Given the description of an element on the screen output the (x, y) to click on. 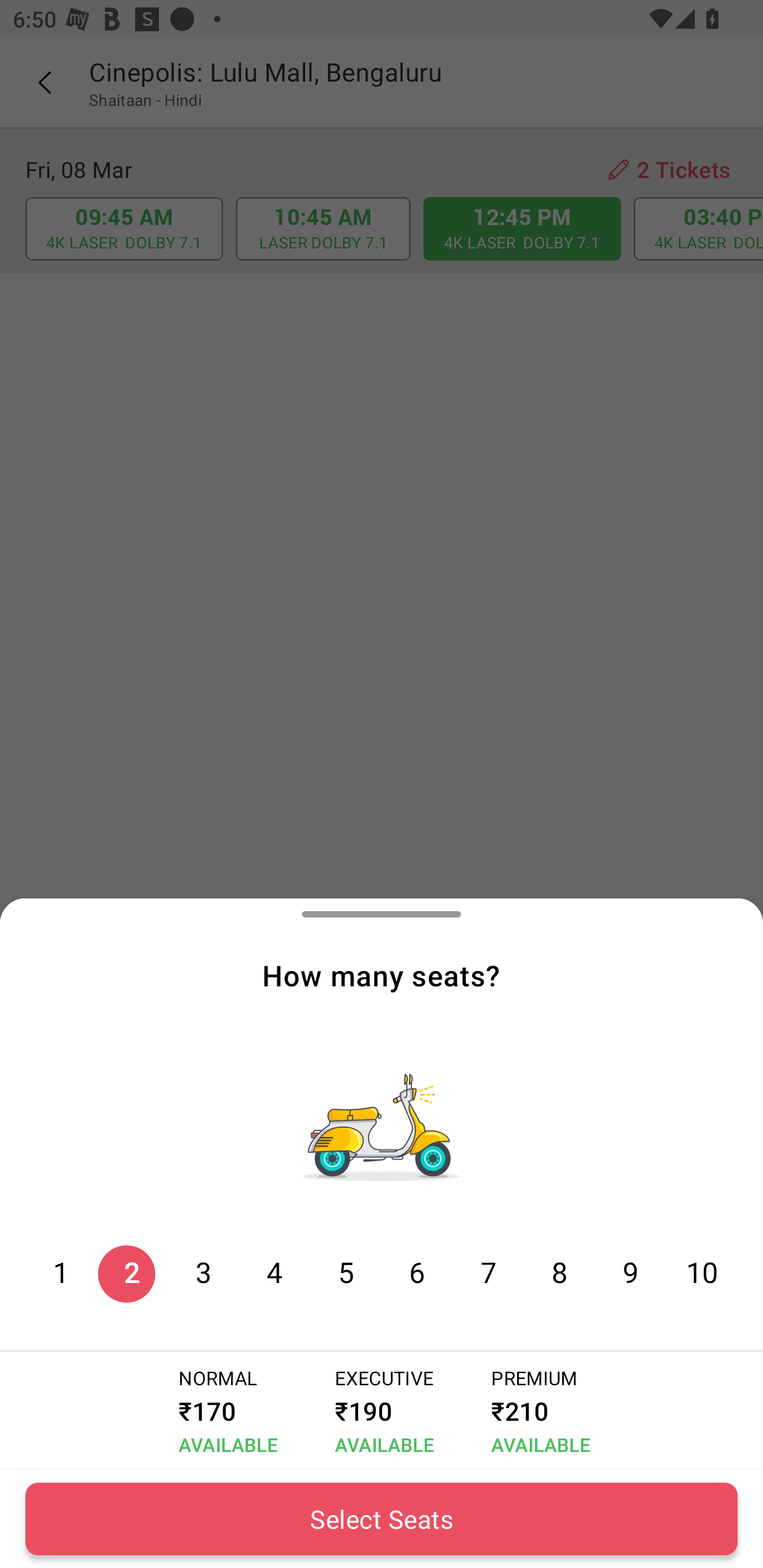
NORMAL ₹170 AVAILABLE (224, 1410)
EXECUTIVE ₹190 AVAILABLE (380, 1410)
PREMIUM ₹210 AVAILABLE (537, 1410)
Select Seats (381, 1519)
